Given the description of an element on the screen output the (x, y) to click on. 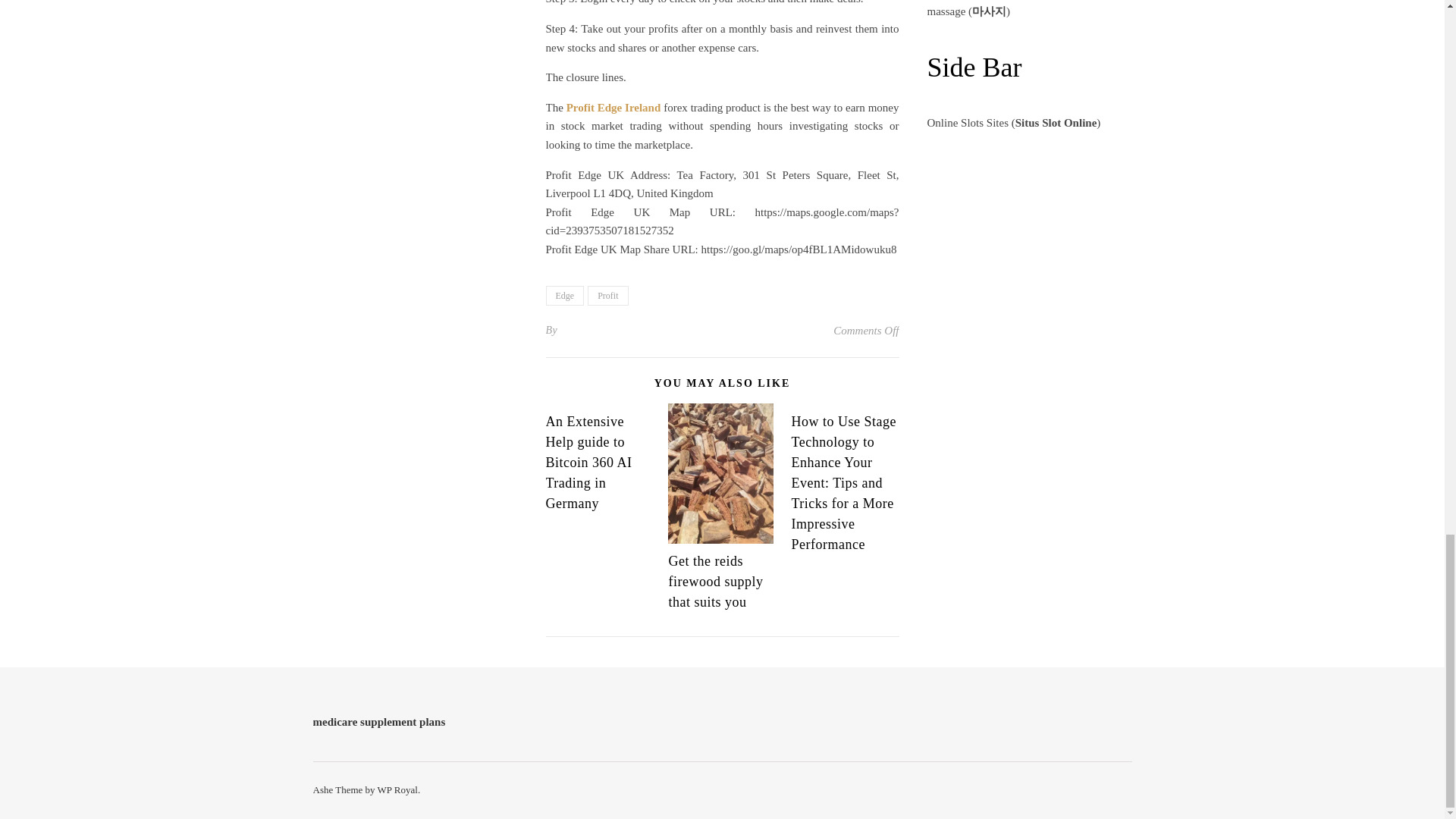
Profit Edge Ireland (613, 107)
An Extensive Help guide to Bitcoin 360 AI Trading in Germany (588, 462)
Profit (607, 295)
Get the reids firewood supply that suits you (715, 581)
Edge (565, 295)
